Given the description of an element on the screen output the (x, y) to click on. 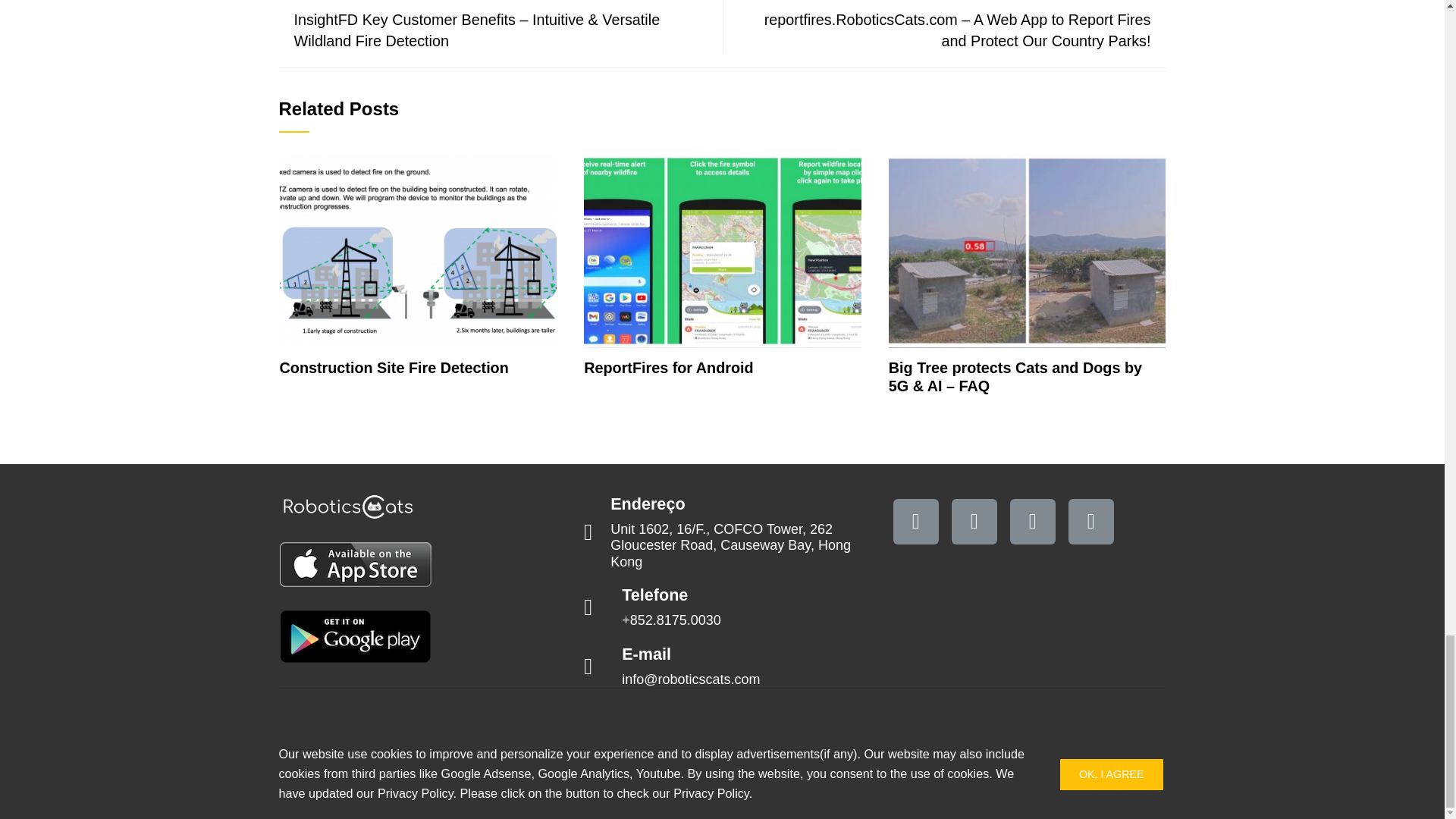
Construction Site Fire Detection (418, 249)
ReportFires for Android (667, 367)
Construction Site Fire Detection (393, 367)
ReportFires for Android (722, 249)
